Given the description of an element on the screen output the (x, y) to click on. 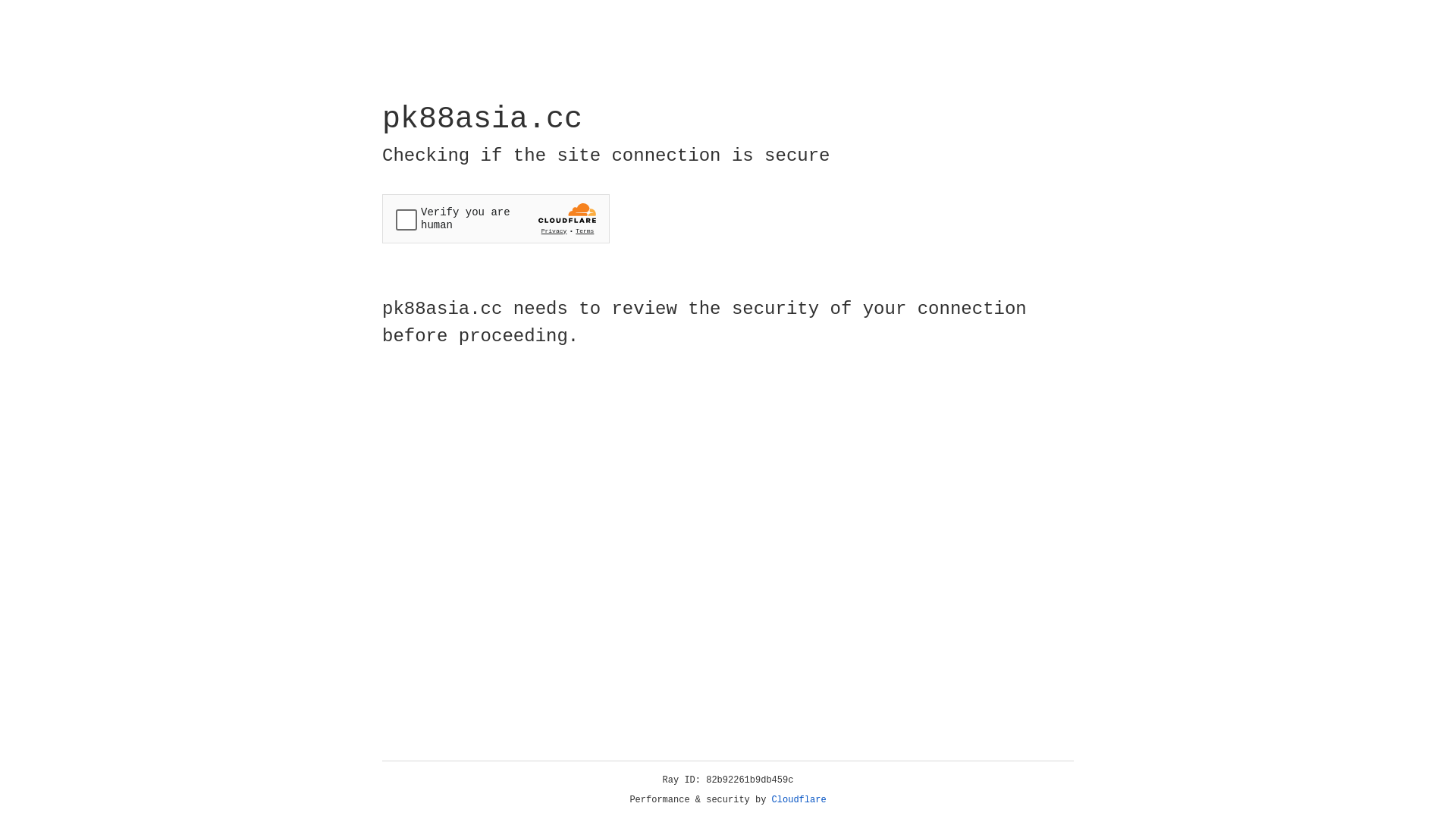
Widget containing a Cloudflare security challenge Element type: hover (495, 218)
Cloudflare Element type: text (798, 799)
